Given the description of an element on the screen output the (x, y) to click on. 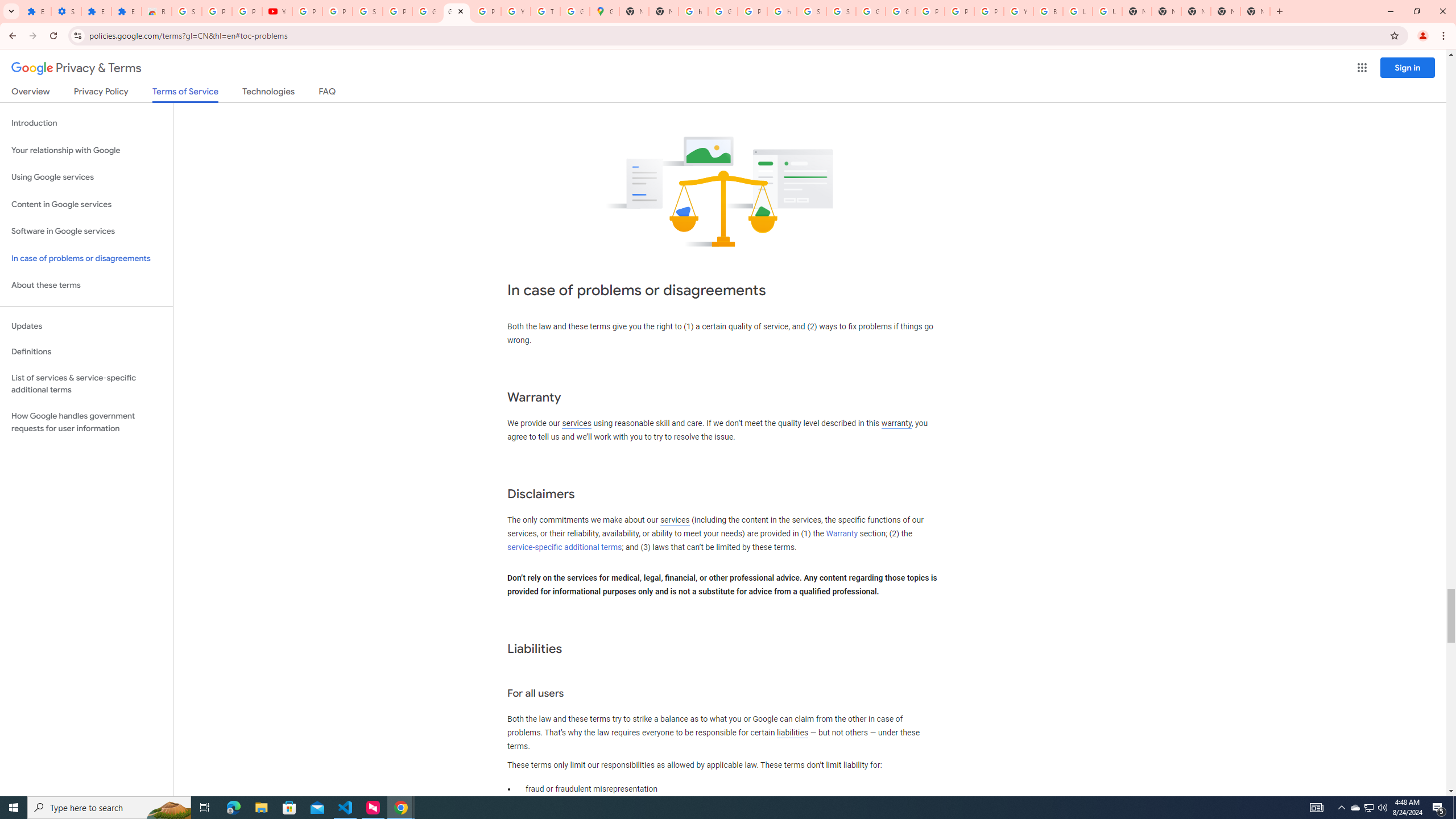
Privacy Help Center - Policies Help (959, 11)
Overview (30, 93)
Content in Google services (86, 204)
YouTube (1018, 11)
services (674, 520)
Extensions (95, 11)
Using Google services (86, 176)
Extensions (126, 11)
New Tab (1195, 11)
